Given the description of an element on the screen output the (x, y) to click on. 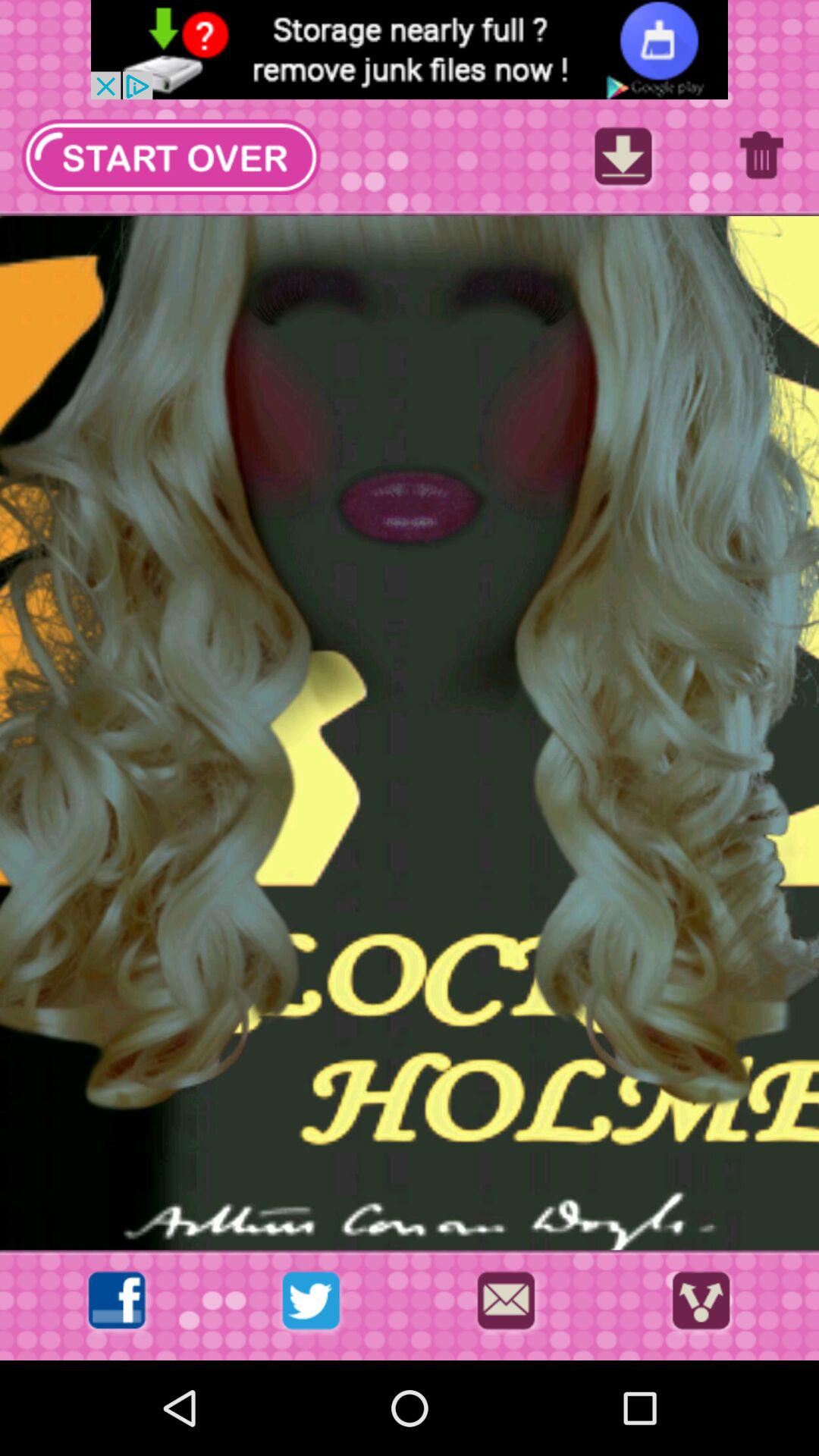
send in messages (505, 1305)
